Given the description of an element on the screen output the (x, y) to click on. 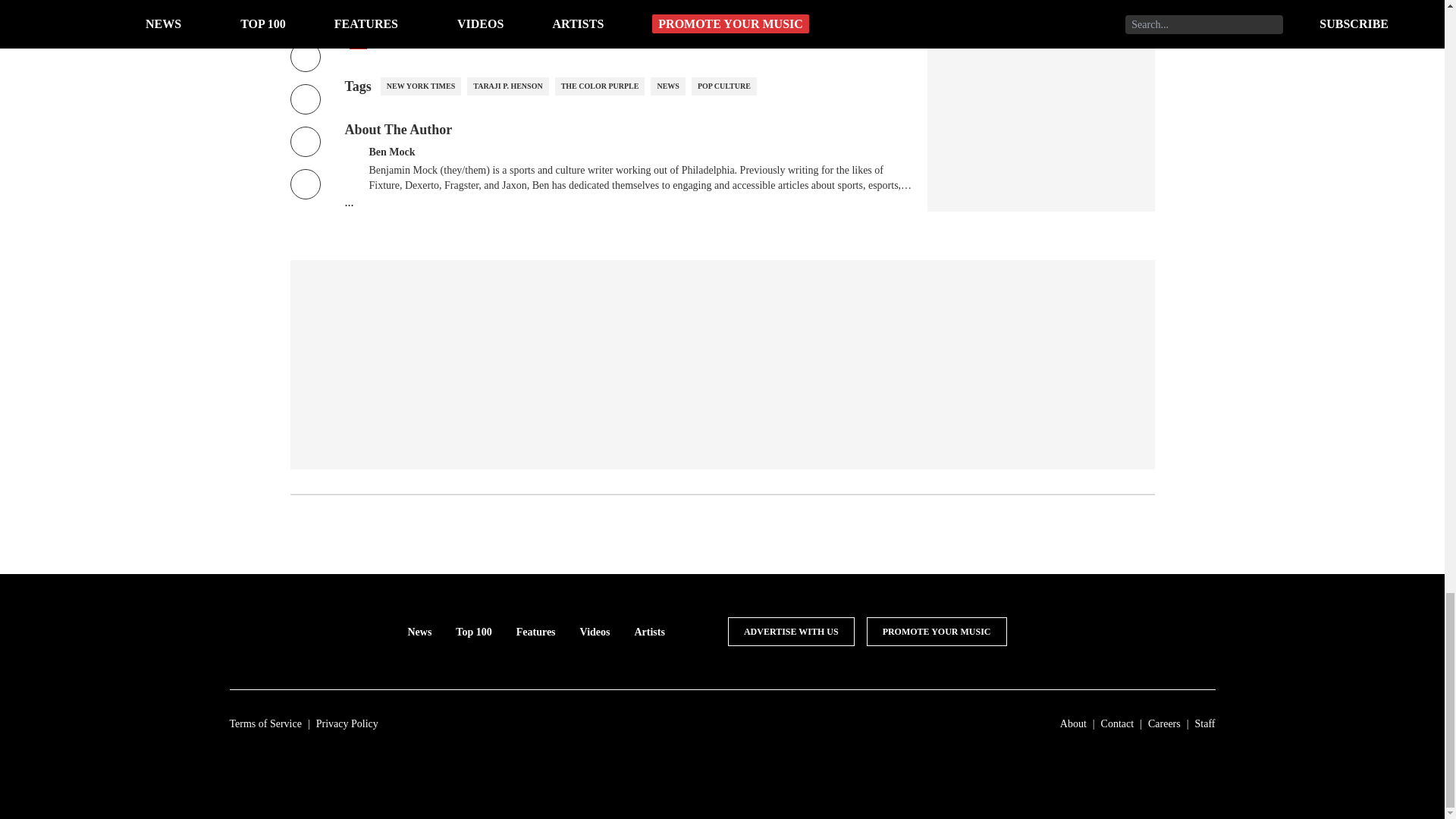
NEWS (667, 85)
NEW YORK TIMES (420, 85)
POP CULTURE (724, 85)
Ben Mock (391, 150)
THE COLOR PURPLE (599, 85)
TARAJI P. HENSON (507, 85)
via (357, 40)
